Given the description of an element on the screen output the (x, y) to click on. 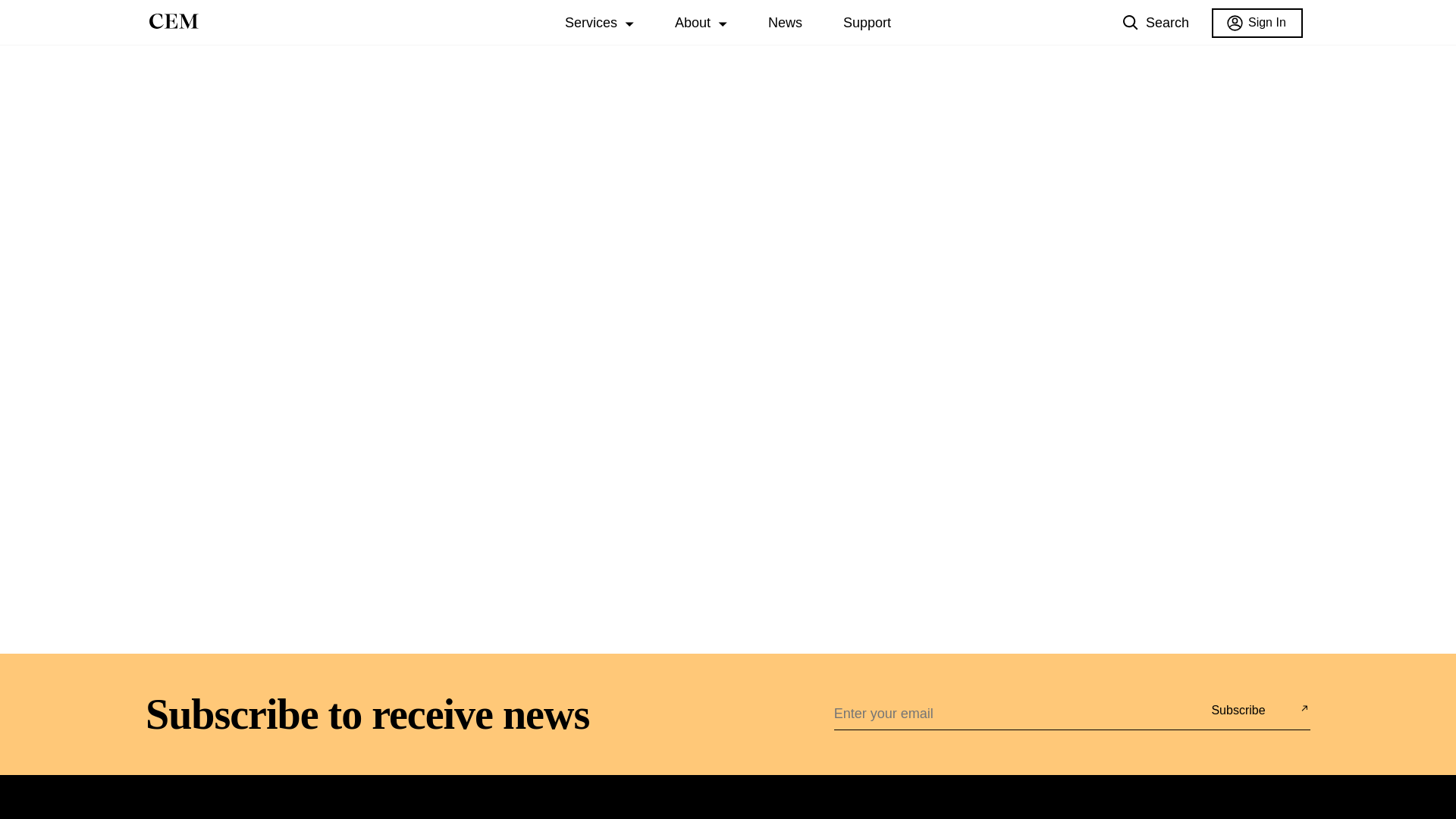
News (785, 22)
Services (590, 22)
Support (867, 22)
About (692, 22)
Subscribe (1237, 710)
Subscribe (1237, 710)
Search (1155, 22)
Sign In (1257, 21)
